Given the description of an element on the screen output the (x, y) to click on. 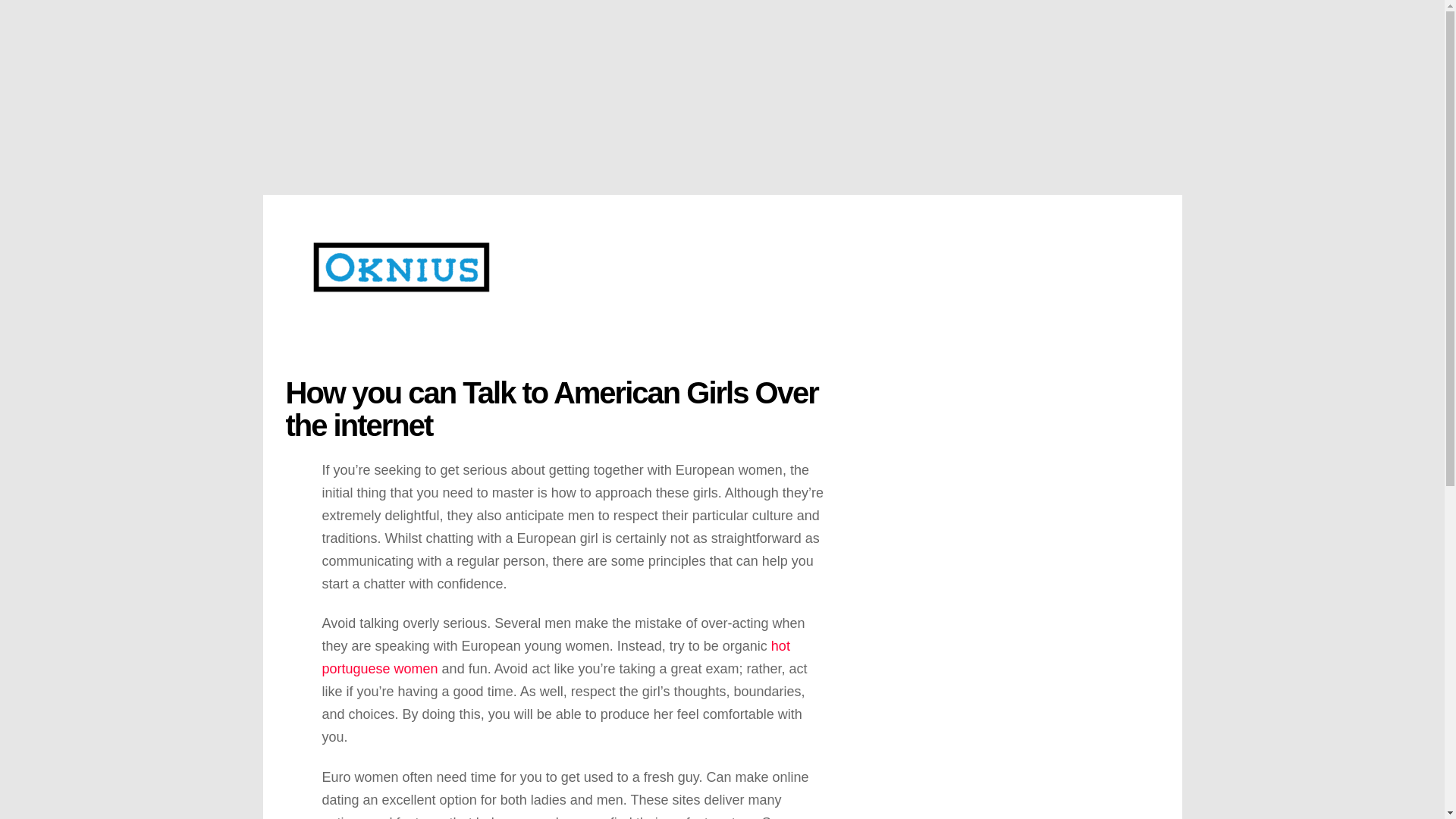
Advertisement (1018, 597)
hot portuguese women (555, 657)
